Given the description of an element on the screen output the (x, y) to click on. 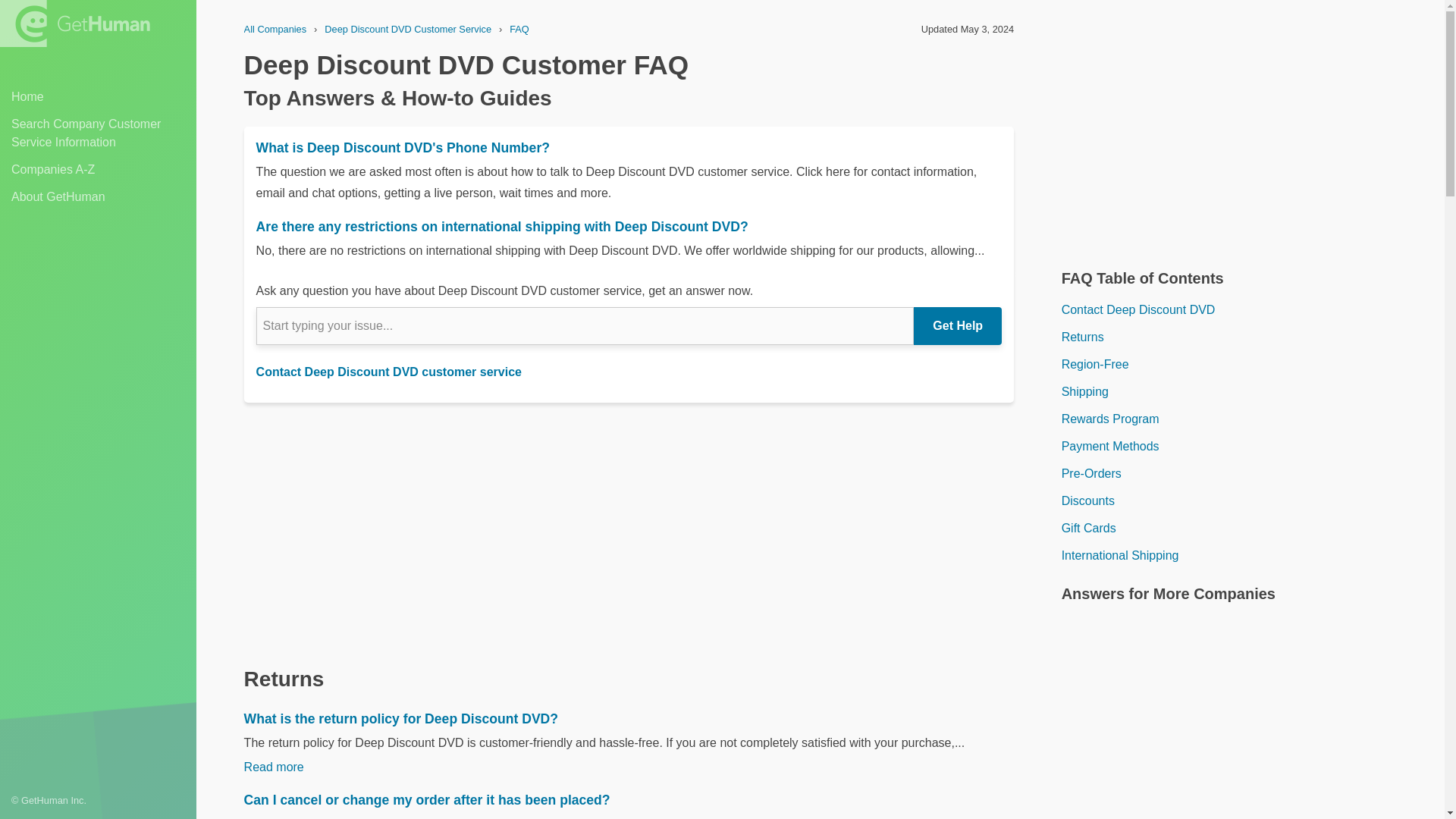
Companies A-Z (97, 169)
Deep Discount DVD Customer Service (408, 29)
Get Help (957, 325)
Advertisement (1238, 136)
All Companies (275, 29)
What is Deep Discount DVD's Phone Number? (629, 147)
Read more (274, 766)
Contact Deep Discount DVD customer service (388, 371)
About GetHuman (97, 197)
FAQ (519, 29)
Home (97, 96)
Advertisement (1238, 724)
Can I cancel or change my order after it has been placed? (629, 800)
GetHuman (74, 23)
